Given the description of an element on the screen output the (x, y) to click on. 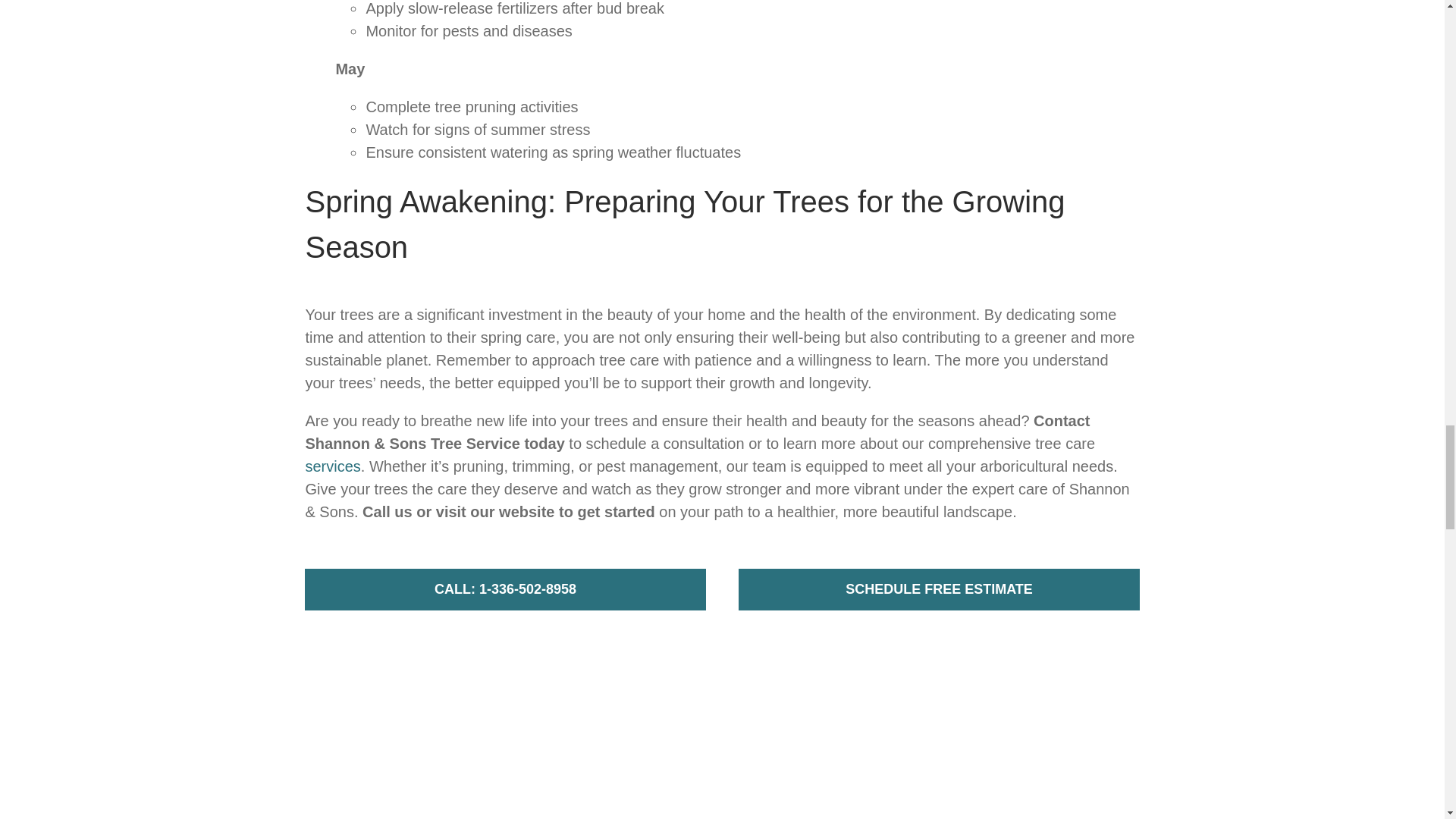
CALL: 1-336-502-8958 (504, 589)
SCHEDULE FREE ESTIMATE (938, 589)
services (331, 466)
